Given the description of an element on the screen output the (x, y) to click on. 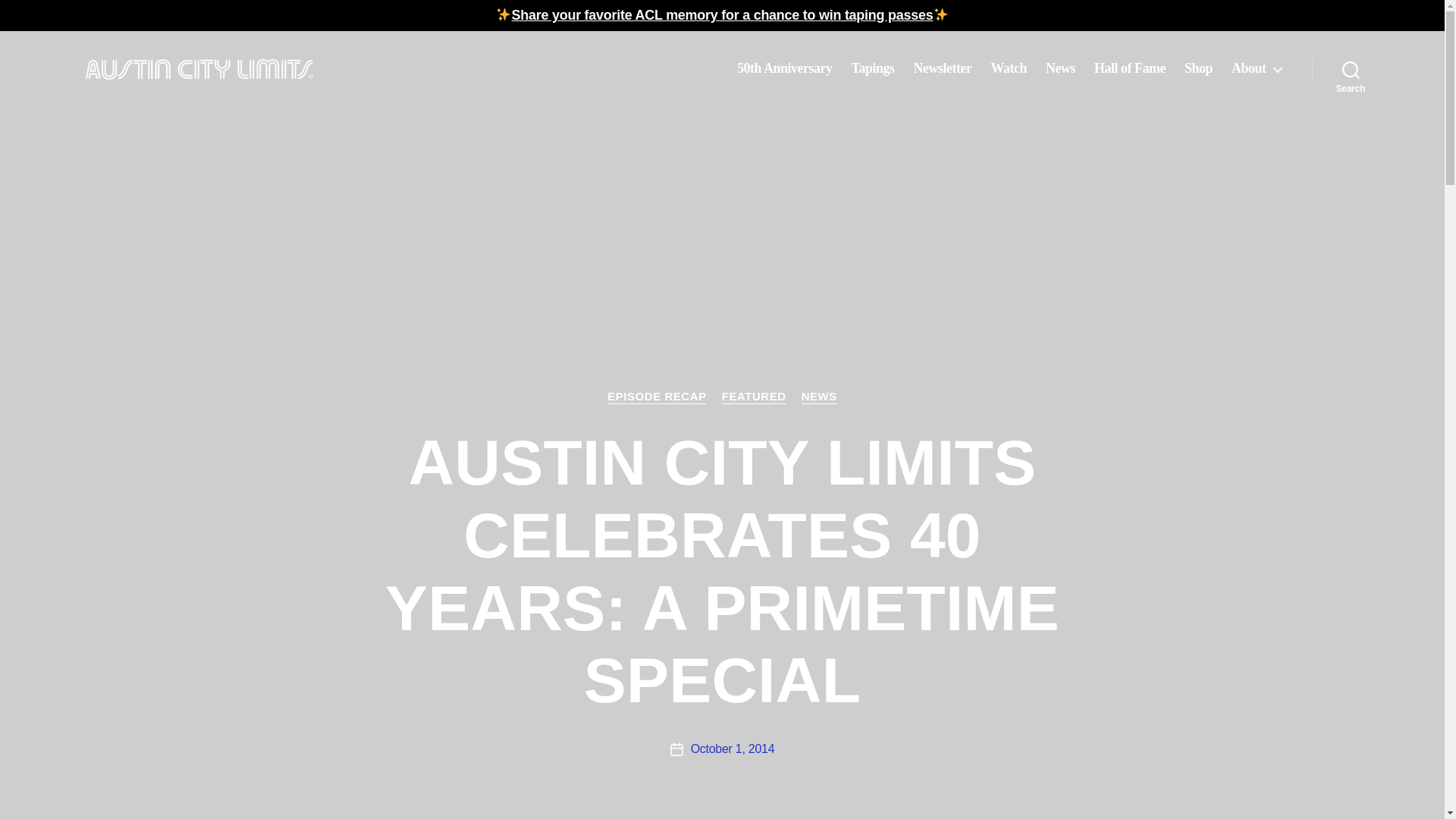
Watch (1008, 68)
50th Anniversary (784, 68)
Shop (1198, 68)
Tapings (873, 68)
Search (1350, 68)
EPISODE RECAP (656, 396)
FEATURED (754, 396)
Newsletter (941, 68)
NEWS (819, 396)
October 1, 2014 (732, 748)
Hall of Fame (1130, 68)
News (1060, 68)
About (1256, 68)
